Given the description of an element on the screen output the (x, y) to click on. 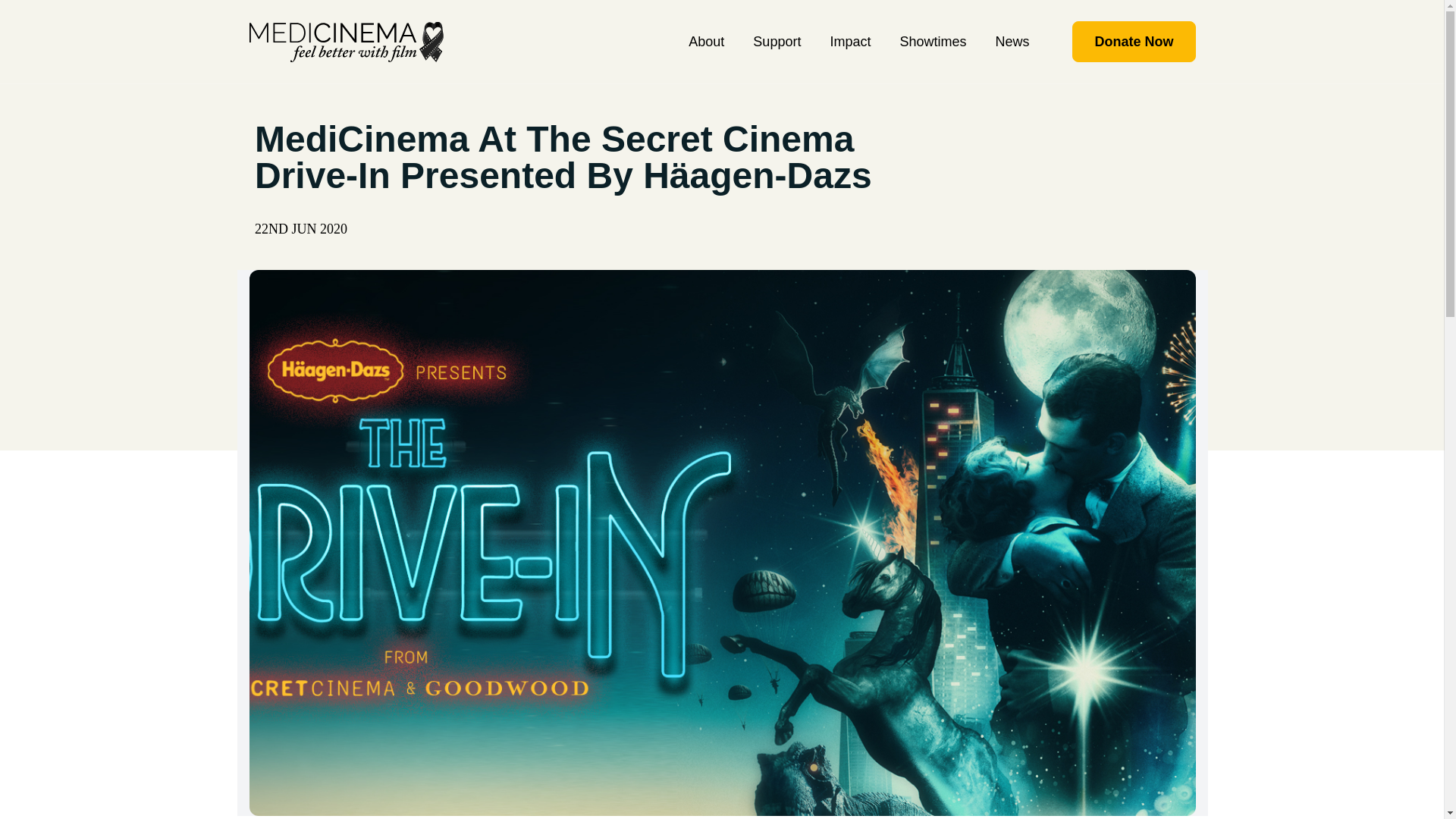
Impact (849, 41)
Donate Now (1133, 41)
News (1011, 41)
About (706, 41)
Medicinema (345, 41)
Support (777, 41)
Showtimes (932, 41)
